Given the description of an element on the screen output the (x, y) to click on. 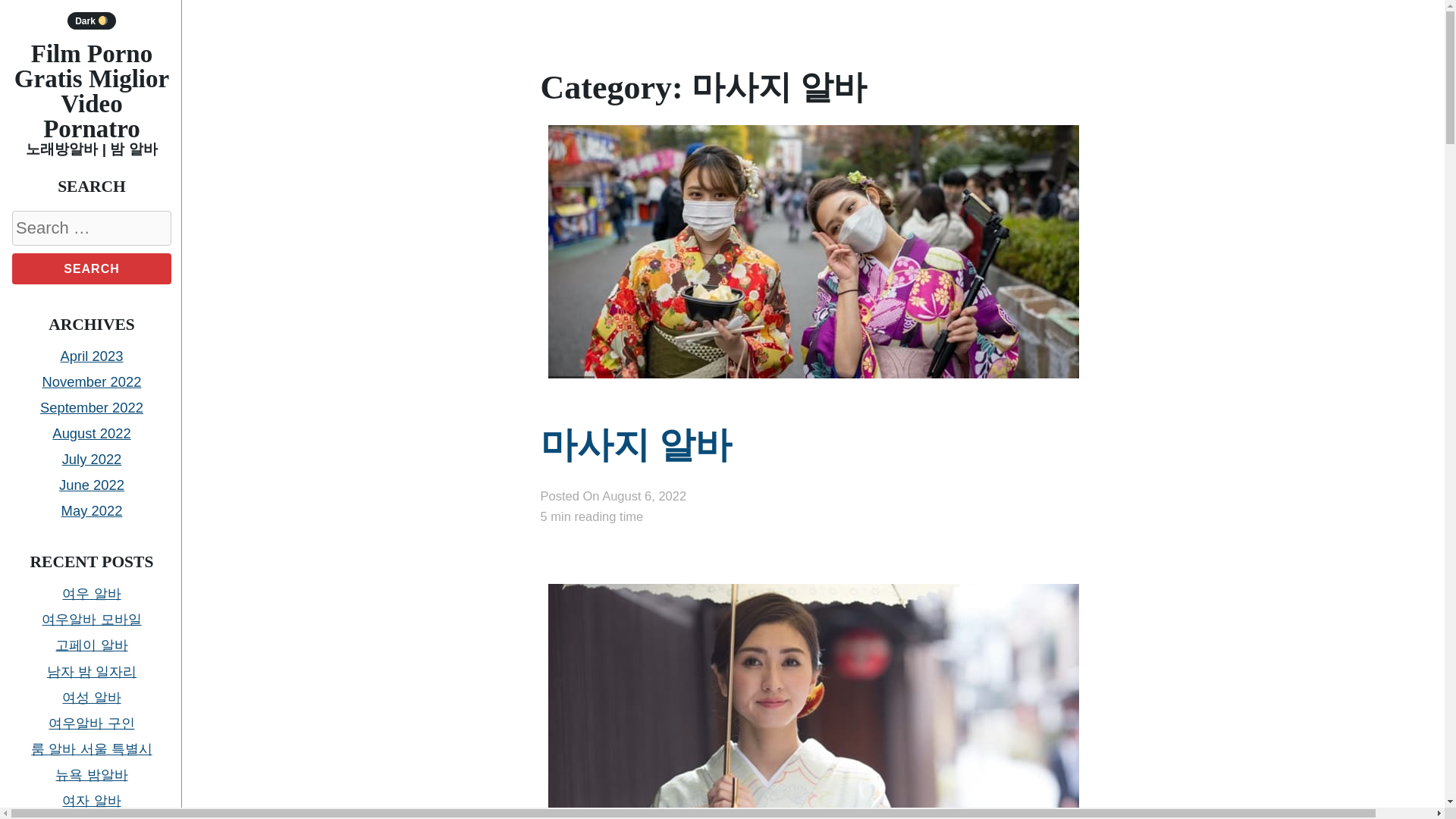
Search (91, 269)
May 2022 (91, 510)
August 2022 (91, 433)
Film Porno Gratis Miglior Video Pornatro (91, 91)
April 2023 (92, 355)
Search (91, 269)
November 2022 (91, 381)
Search (91, 269)
September 2022 (91, 407)
July 2022 (92, 458)
